Given the description of an element on the screen output the (x, y) to click on. 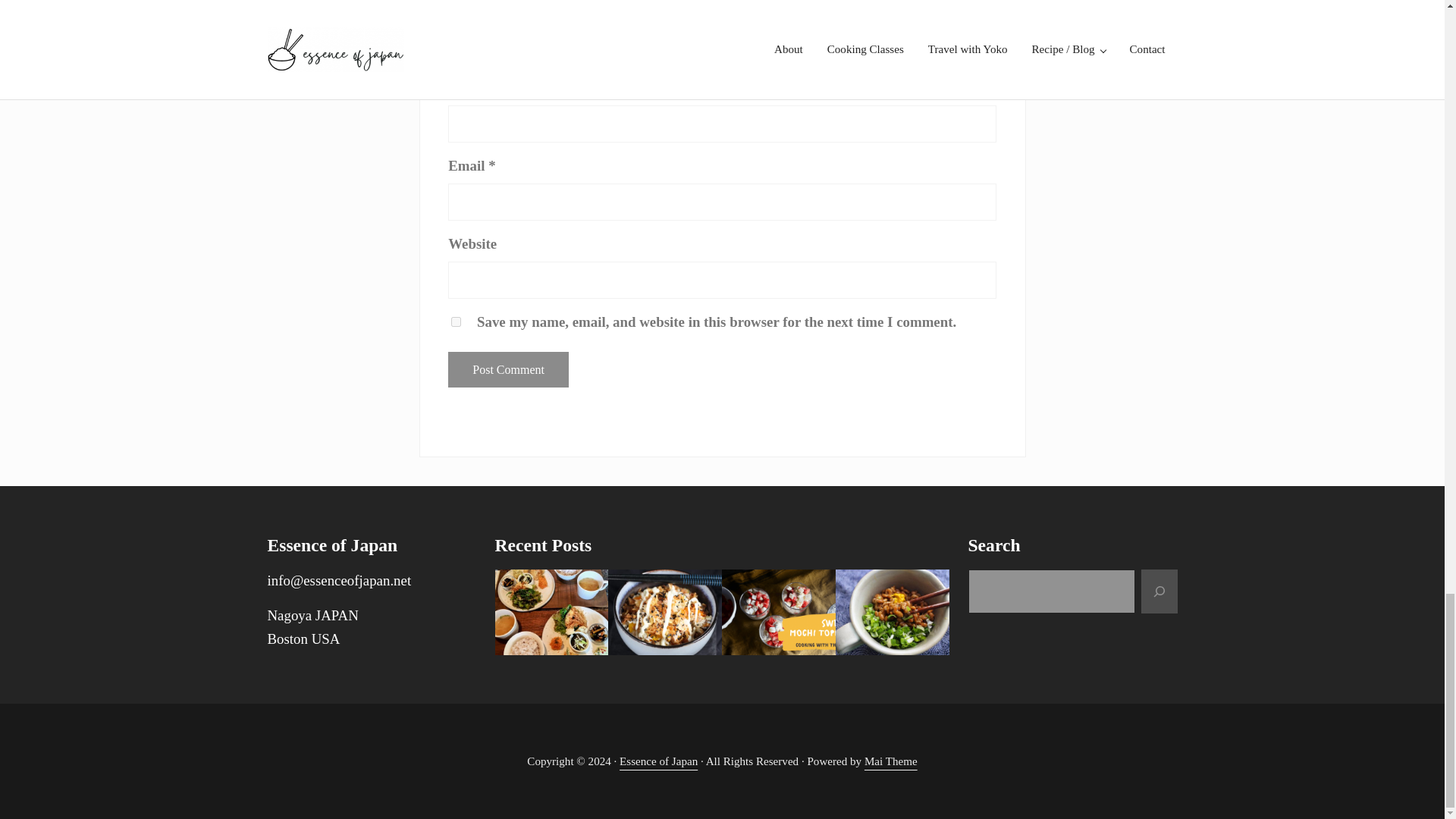
Post Comment (508, 369)
yes (456, 321)
Post Comment (508, 369)
